Given the description of an element on the screen output the (x, y) to click on. 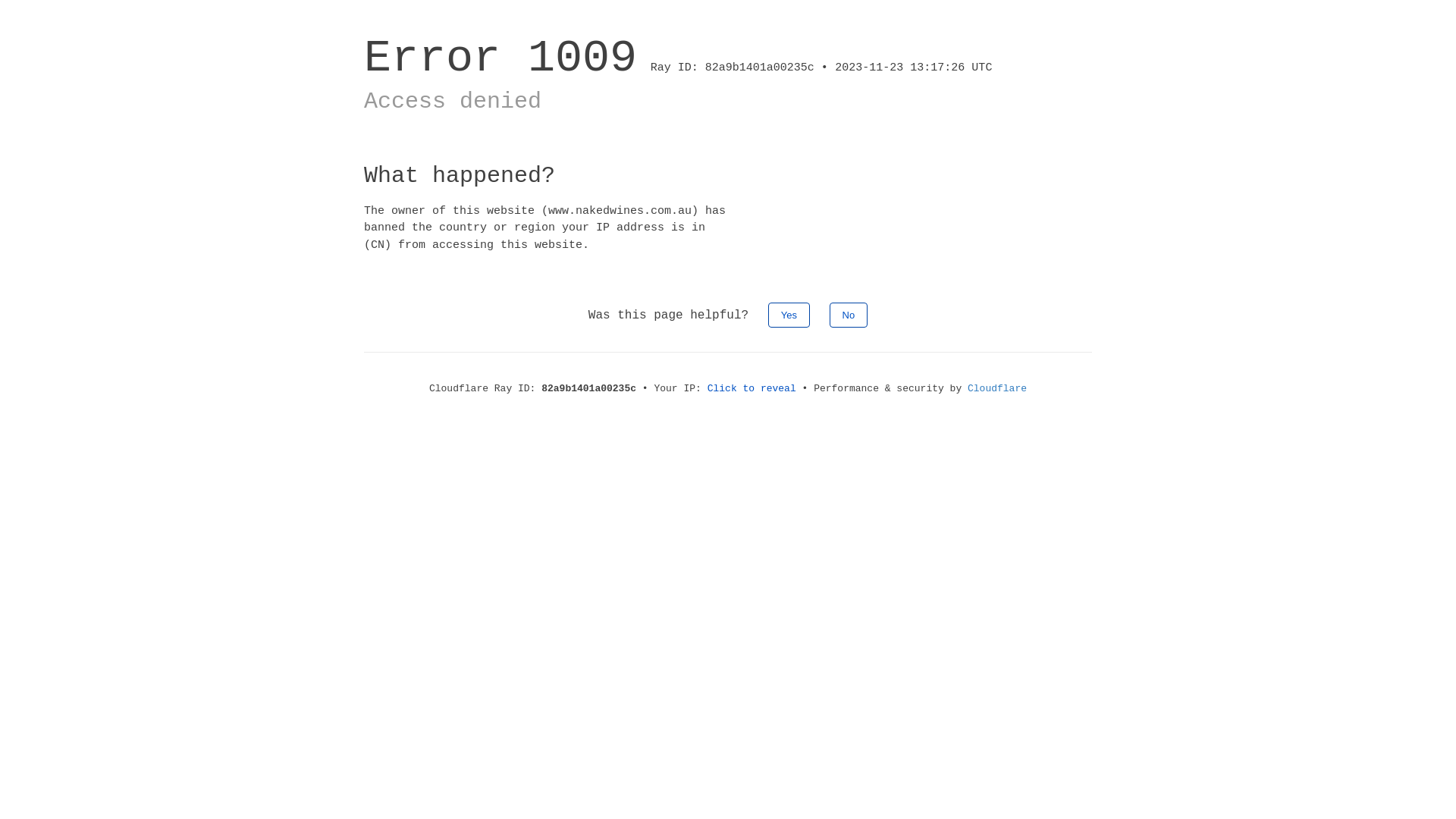
Cloudflare Element type: text (996, 388)
Yes Element type: text (788, 314)
No Element type: text (848, 314)
Click to reveal Element type: text (751, 388)
